Given the description of an element on the screen output the (x, y) to click on. 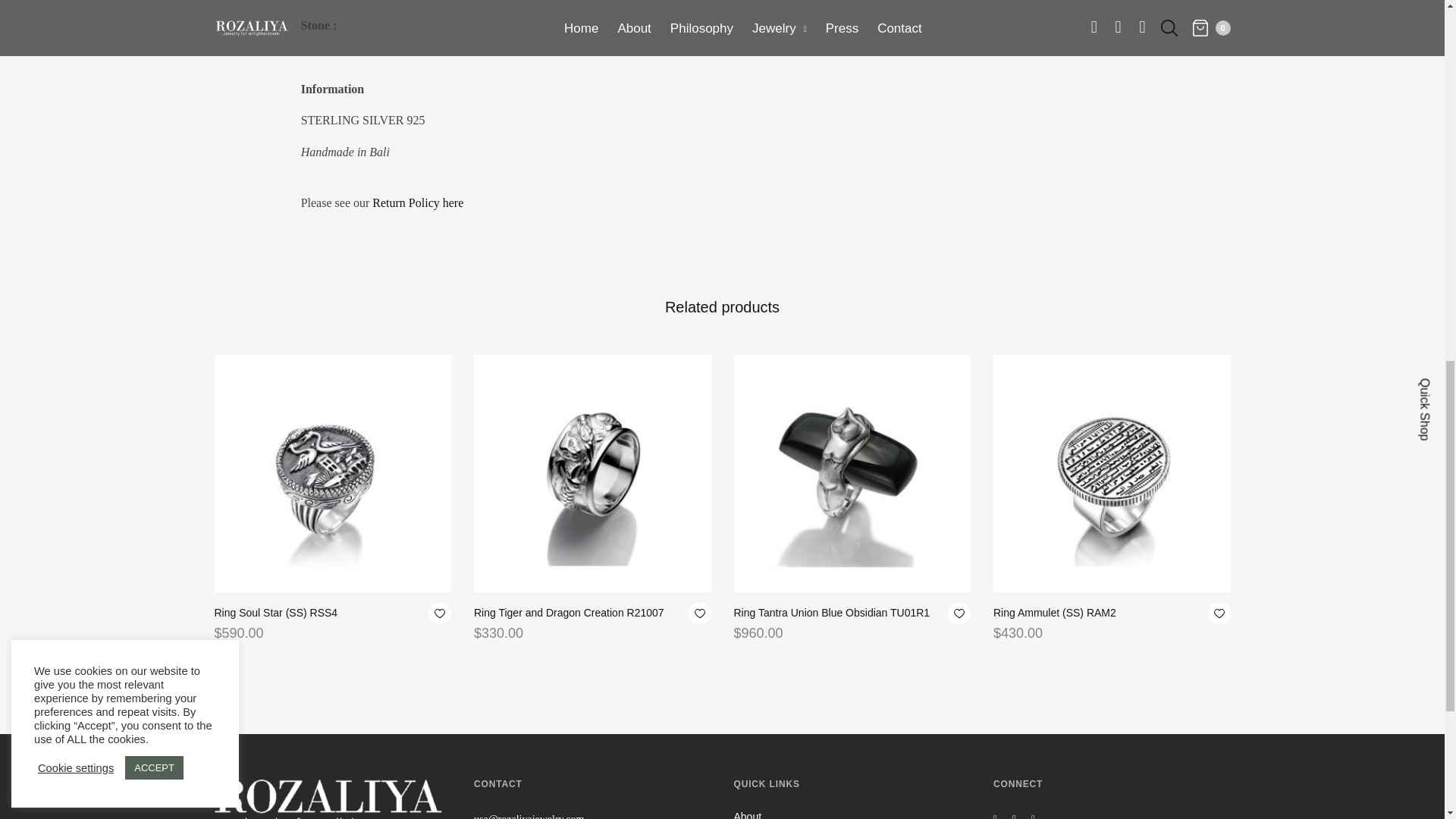
Ring Tantra Union Blue Obsidian TU01R1 (831, 612)
Ring Tiger and Dragon Creation R21007 (568, 612)
Ring Tantra Union Blue Obsidian TU01R1 (852, 473)
Ring Tiger and Dragon Creation R21007 (592, 473)
